Given the description of an element on the screen output the (x, y) to click on. 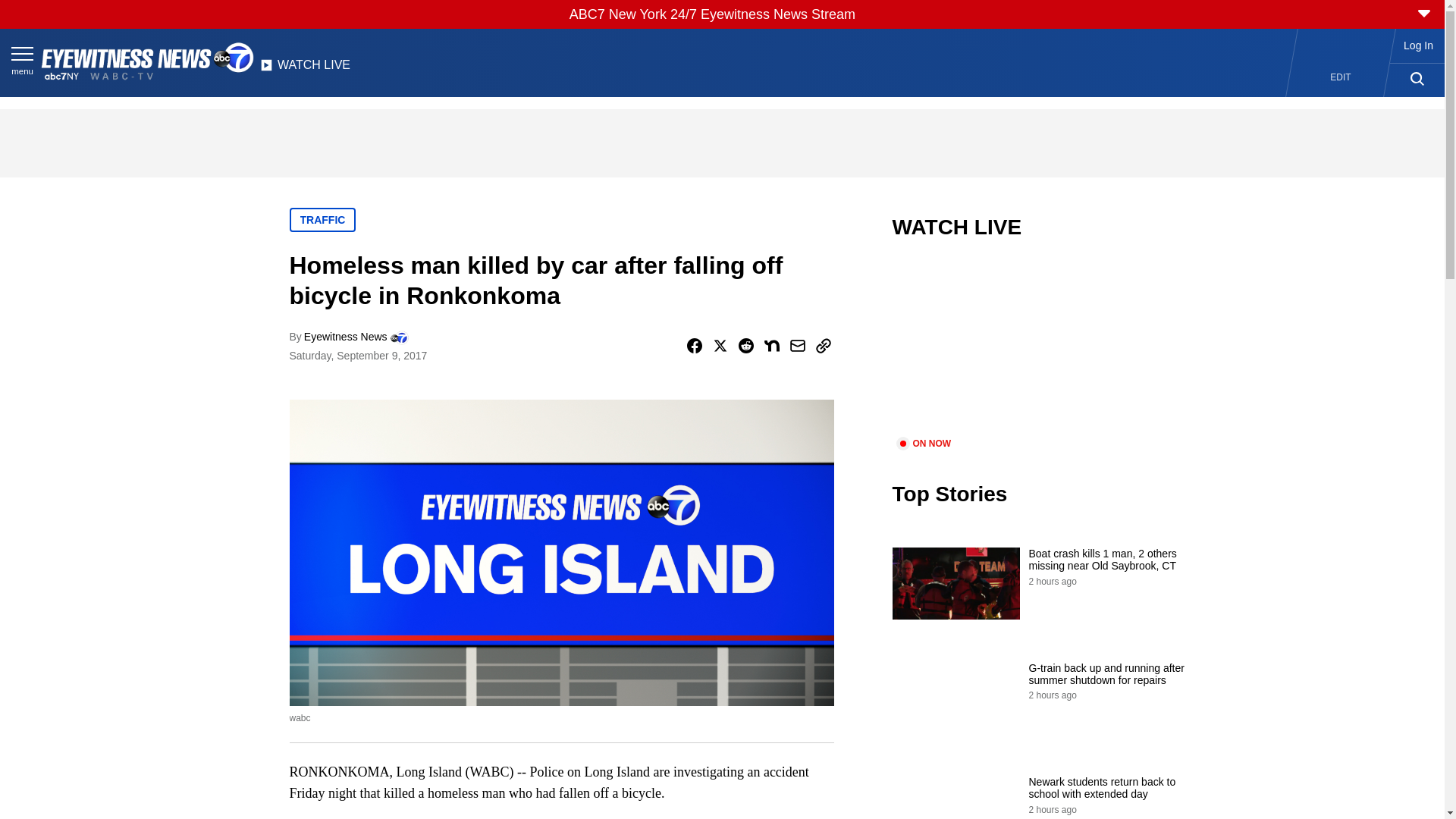
video.title (1043, 347)
EDIT (1340, 77)
WATCH LIVE (305, 69)
